Given the description of an element on the screen output the (x, y) to click on. 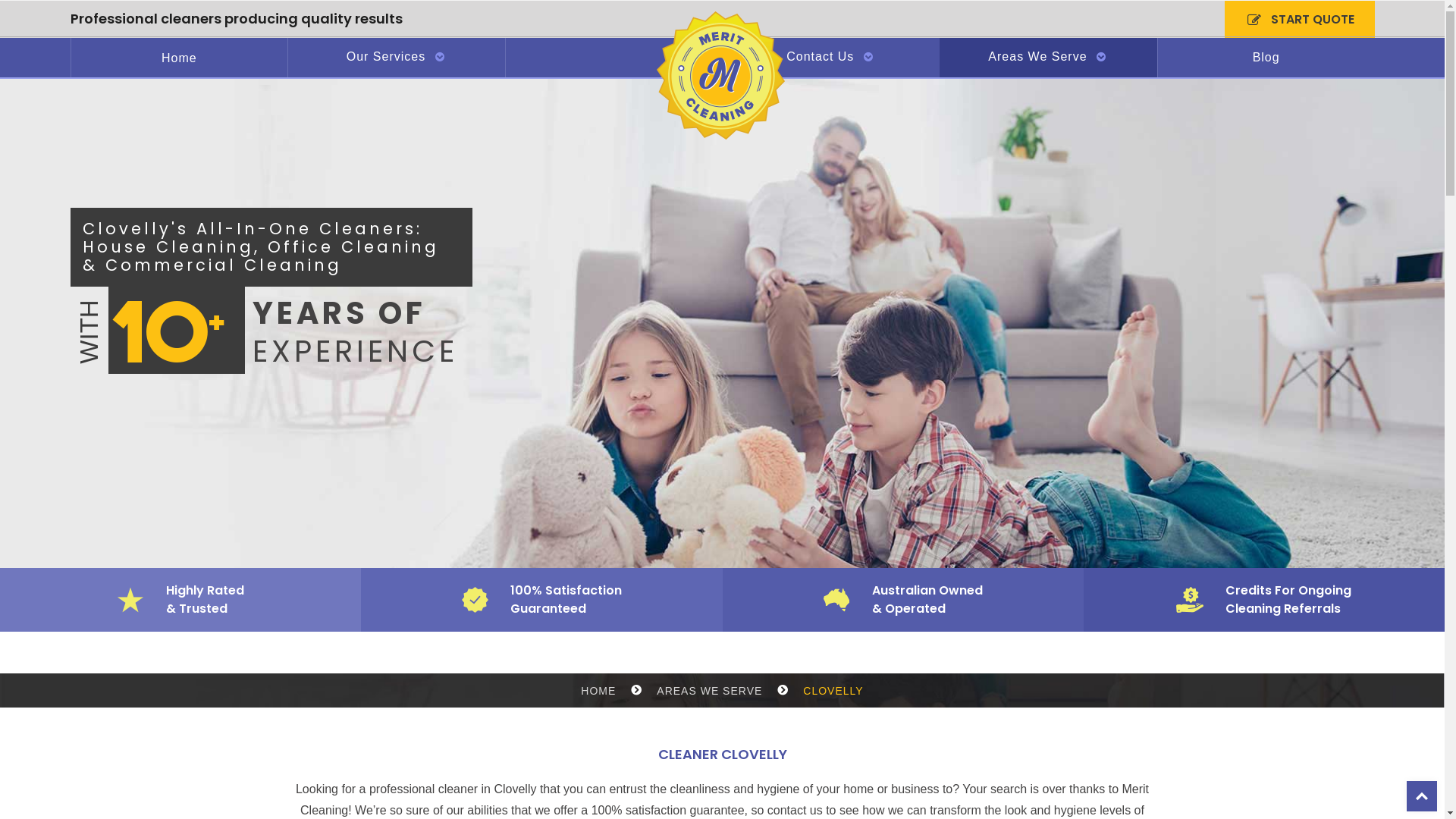
Contact Us Element type: text (830, 57)
Home Element type: text (179, 57)
HOME Element type: text (597, 690)
START QUOTE Element type: text (1298, 18)
AREAS WE SERVE Element type: text (709, 690)
Areas We Serve Element type: text (1048, 57)
Blog Element type: text (1265, 57)
Call Me Back Element type: text (833, 460)
Our Services Element type: text (396, 57)
